Given the description of an element on the screen output the (x, y) to click on. 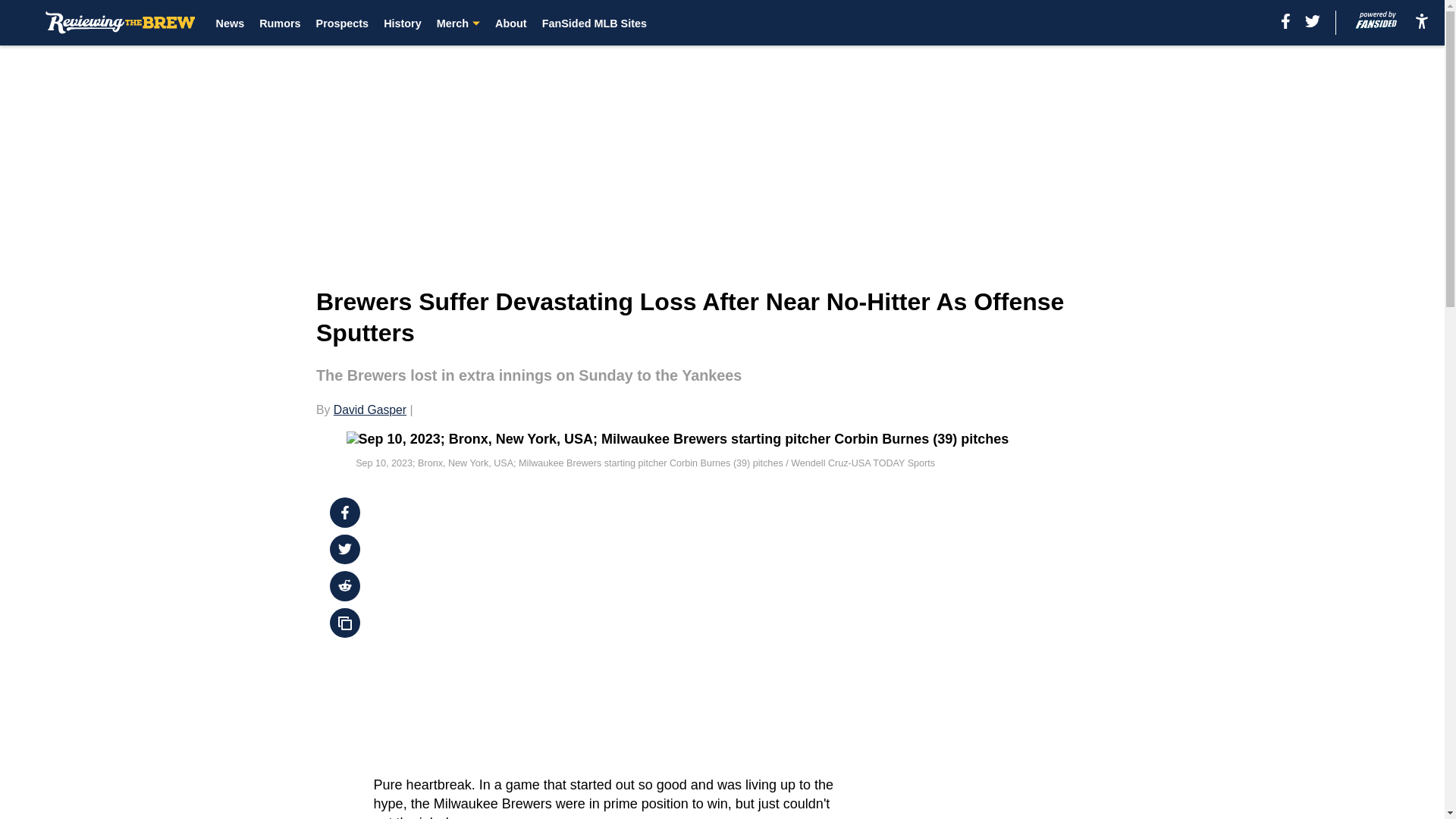
Prospects (342, 23)
History (403, 23)
David Gasper (369, 409)
Rumors (279, 23)
News (229, 23)
FanSided MLB Sites (593, 23)
About (511, 23)
